Given the description of an element on the screen output the (x, y) to click on. 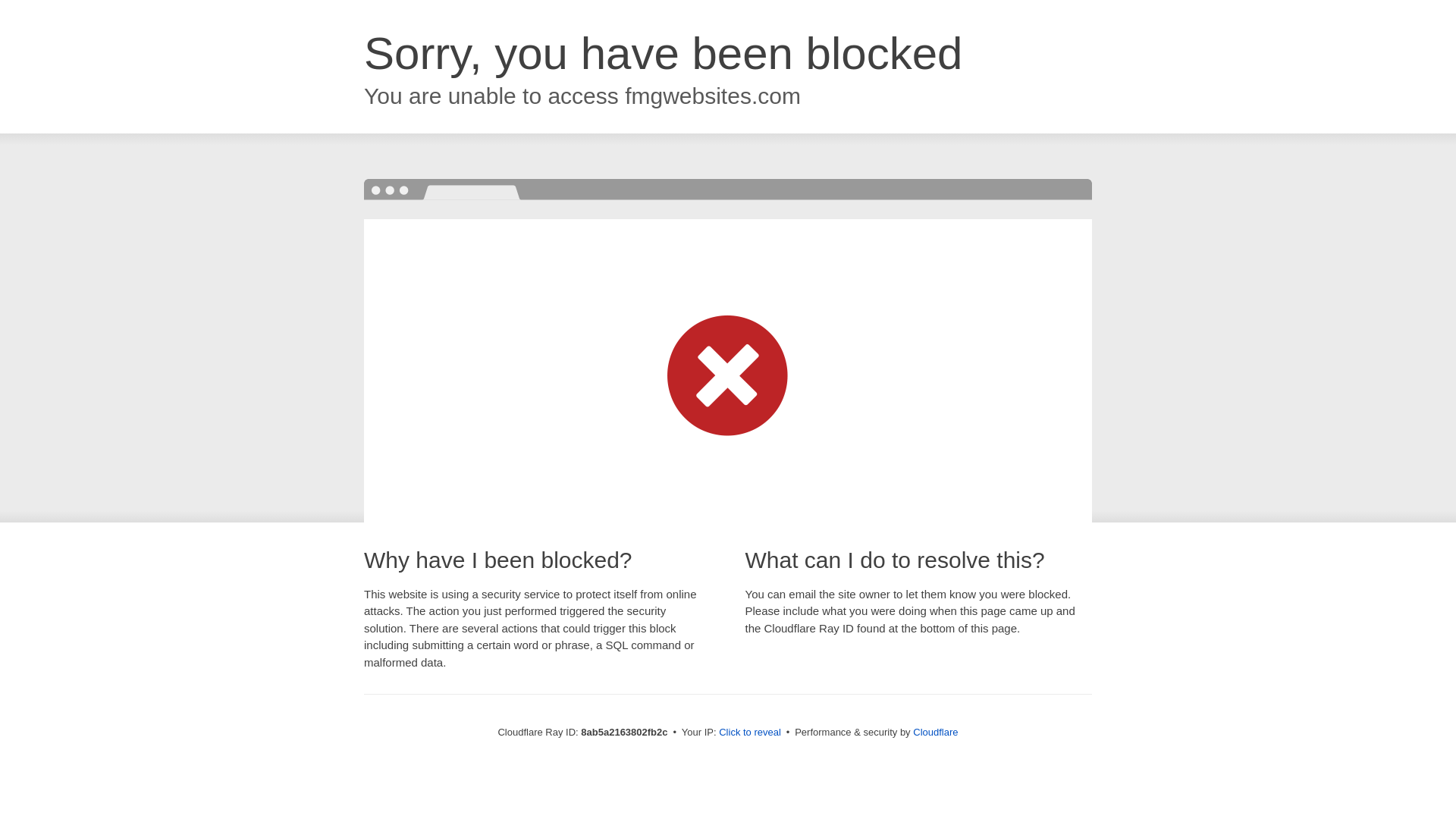
Click to reveal (749, 732)
Cloudflare (935, 731)
